Given the description of an element on the screen output the (x, y) to click on. 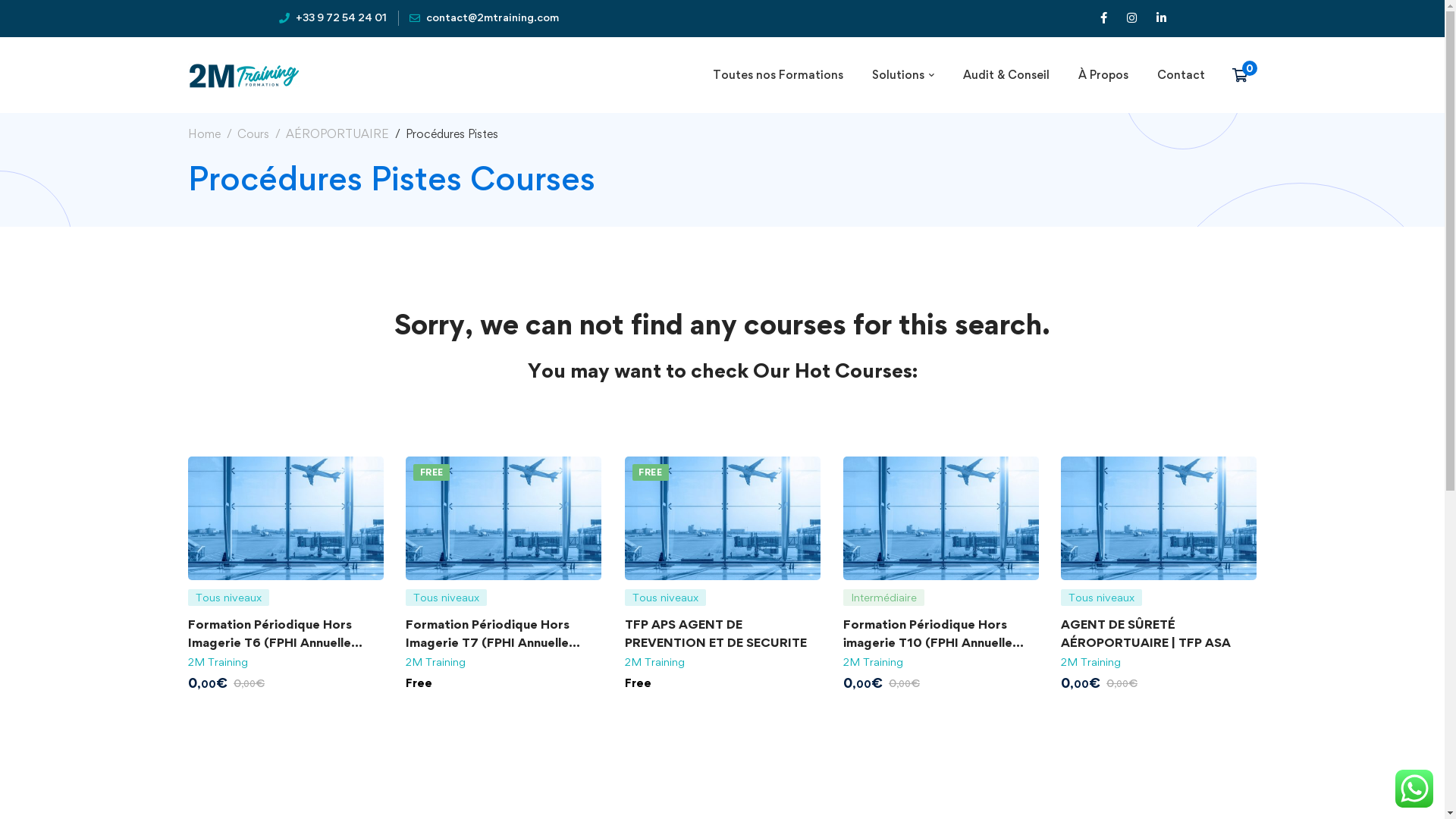
2M Training Element type: text (217, 661)
Contact Element type: text (1180, 74)
2M Training Element type: text (654, 661)
2M Training Element type: text (873, 661)
+33 9 72 54 24 01 Element type: text (332, 18)
2M Training Element type: text (1090, 661)
Solutions Element type: text (902, 74)
Home Element type: text (204, 133)
Audit & Conseil Element type: text (1005, 74)
Cours Element type: text (252, 133)
Toutes nos Formations Element type: text (777, 74)
View your shopping cart Element type: hover (1243, 74)
2M Training Element type: text (435, 661)
contact@2mtraining.com Element type: text (483, 18)
TFP APS AGENT DE PREVENTION ET DE SECURITE Element type: text (715, 632)
